Given the description of an element on the screen output the (x, y) to click on. 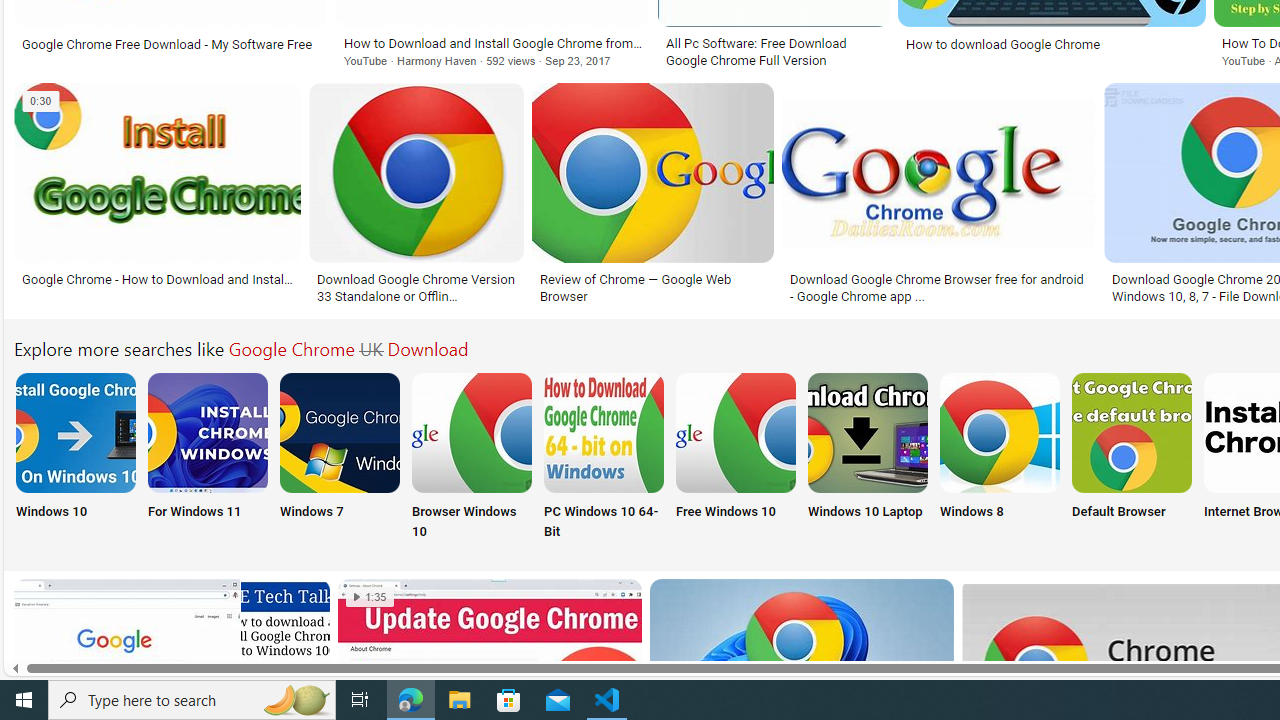
Google Chrome Default Browser Download (1131, 432)
How to download Google Chrome (1003, 44)
Google Chrome Download Free Windows 10 (735, 432)
Google Chrome Browser Windows 10 Download (472, 432)
Google Chrome Free Download - My Software Free (170, 44)
Default Browser (1131, 457)
Windows 7 (339, 457)
